Given the description of an element on the screen output the (x, y) to click on. 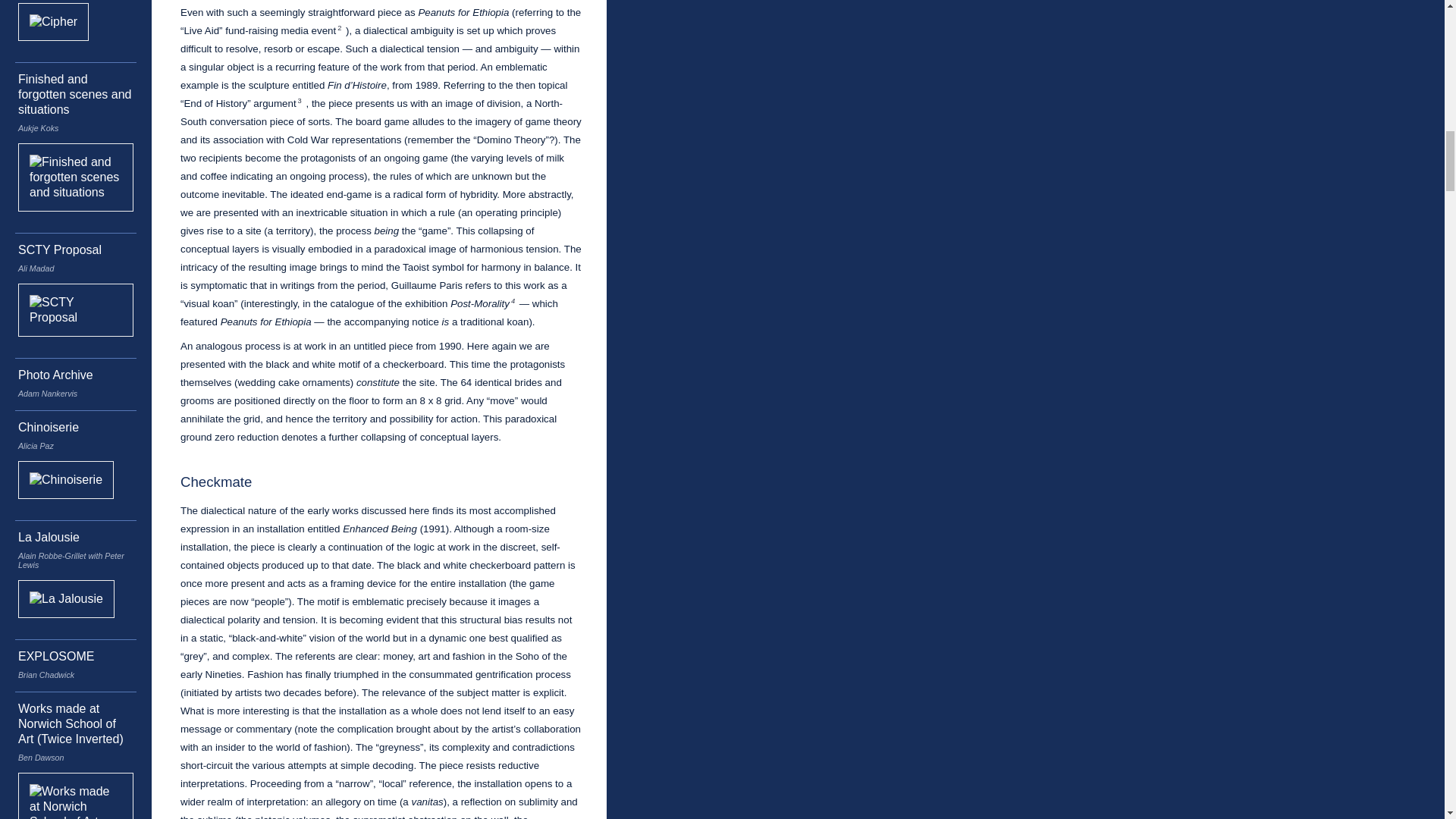
Photo Archive (55, 374)
SCTY Proposal (59, 249)
La Jalousie (48, 537)
Finished and forgotten scenes and situations (72, 94)
Chinoiserie (47, 426)
EXPLOSOME (55, 656)
